Given the description of an element on the screen output the (x, y) to click on. 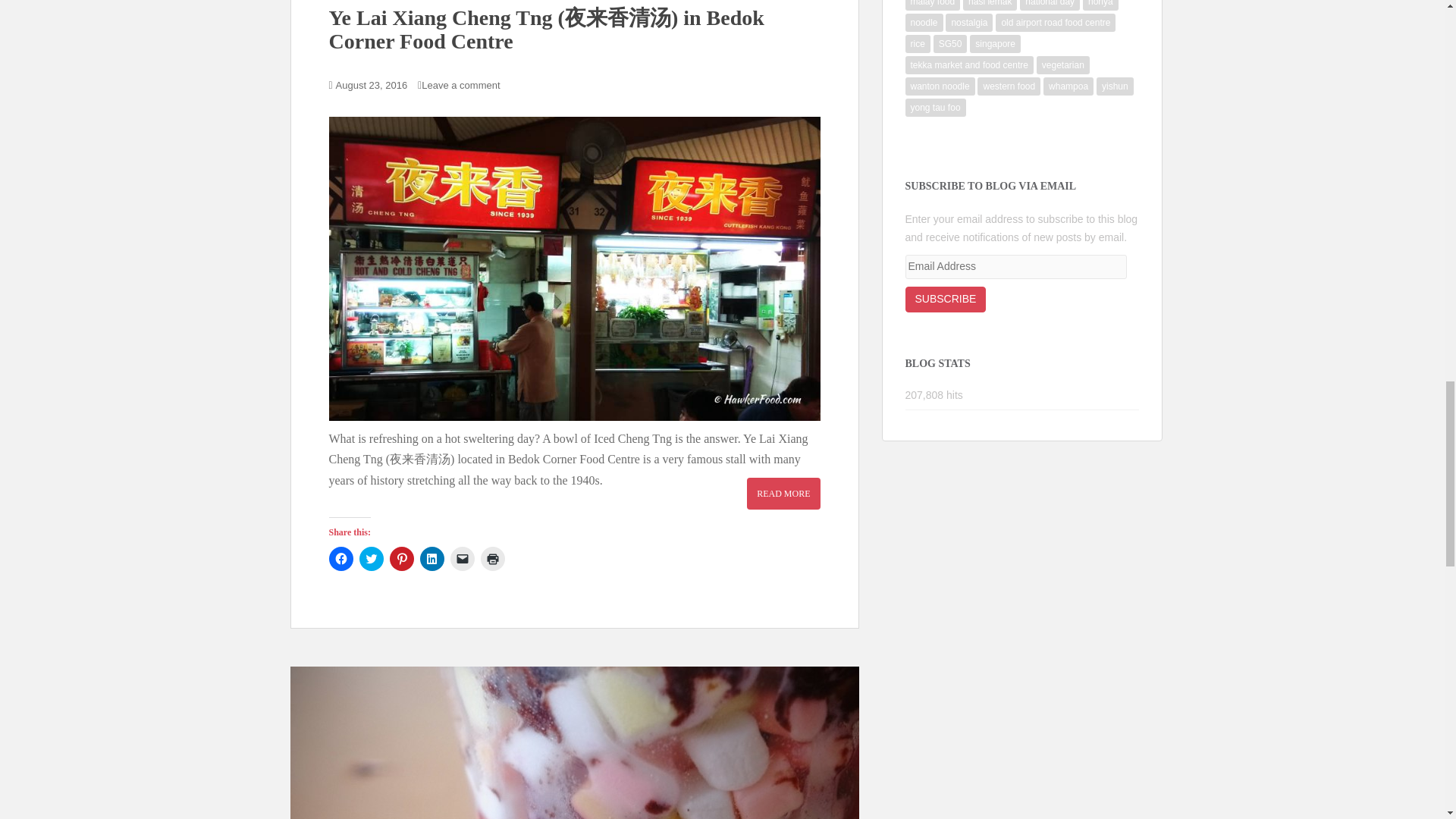
Click to share on Twitter (371, 558)
August 23, 2016 (371, 84)
READ MORE (782, 493)
Click to share on Facebook (341, 558)
Click to share on Pinterest (401, 558)
Click to email a link to a friend (461, 558)
Click to print (492, 558)
Leave a comment (464, 84)
Click to share on LinkedIn (432, 558)
